Given the description of an element on the screen output the (x, y) to click on. 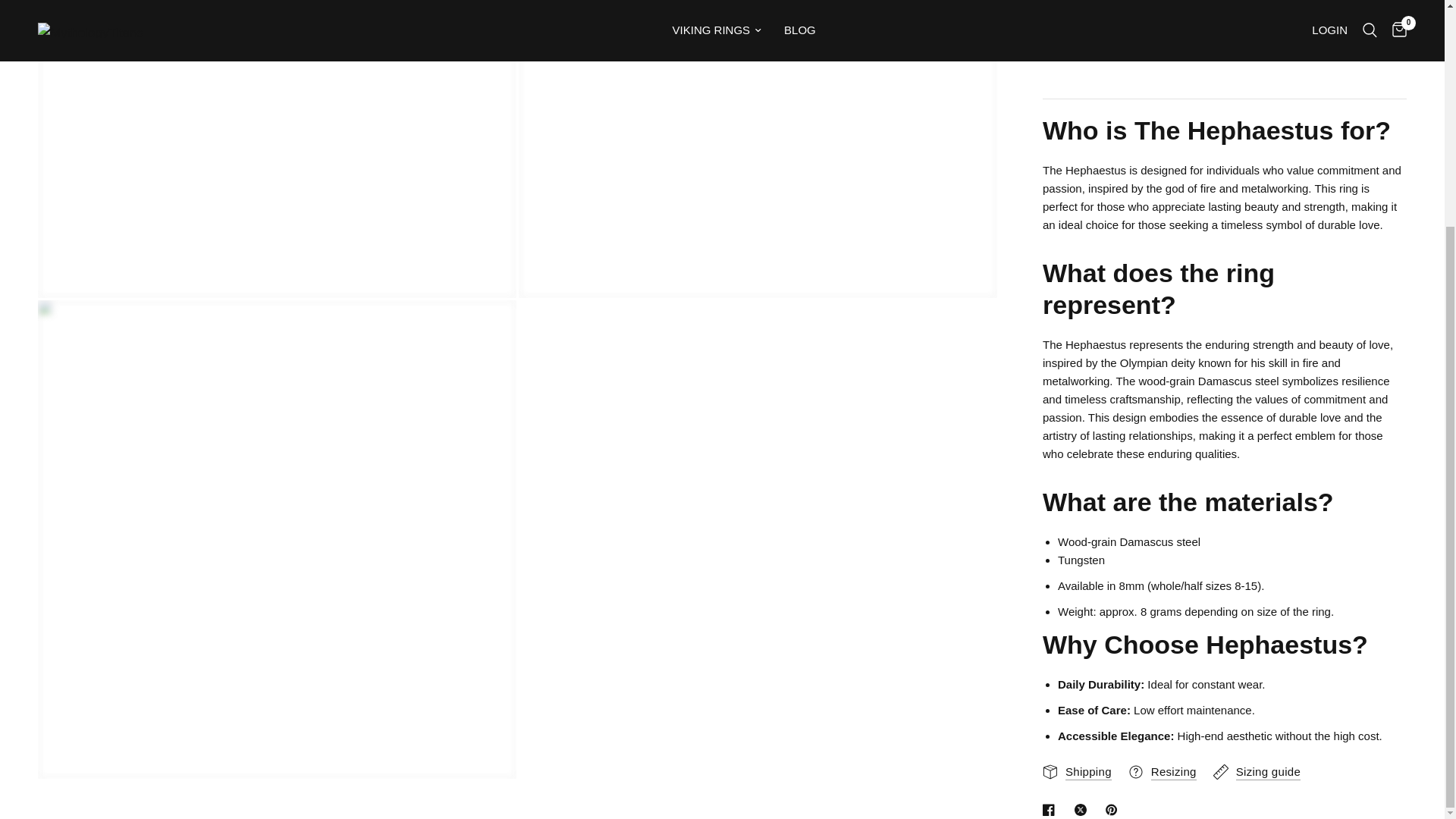
Resizing (1162, 752)
Shipping (1077, 752)
Sizing guide (1256, 752)
ADD TO CART (1224, 2)
